Given the description of an element on the screen output the (x, y) to click on. 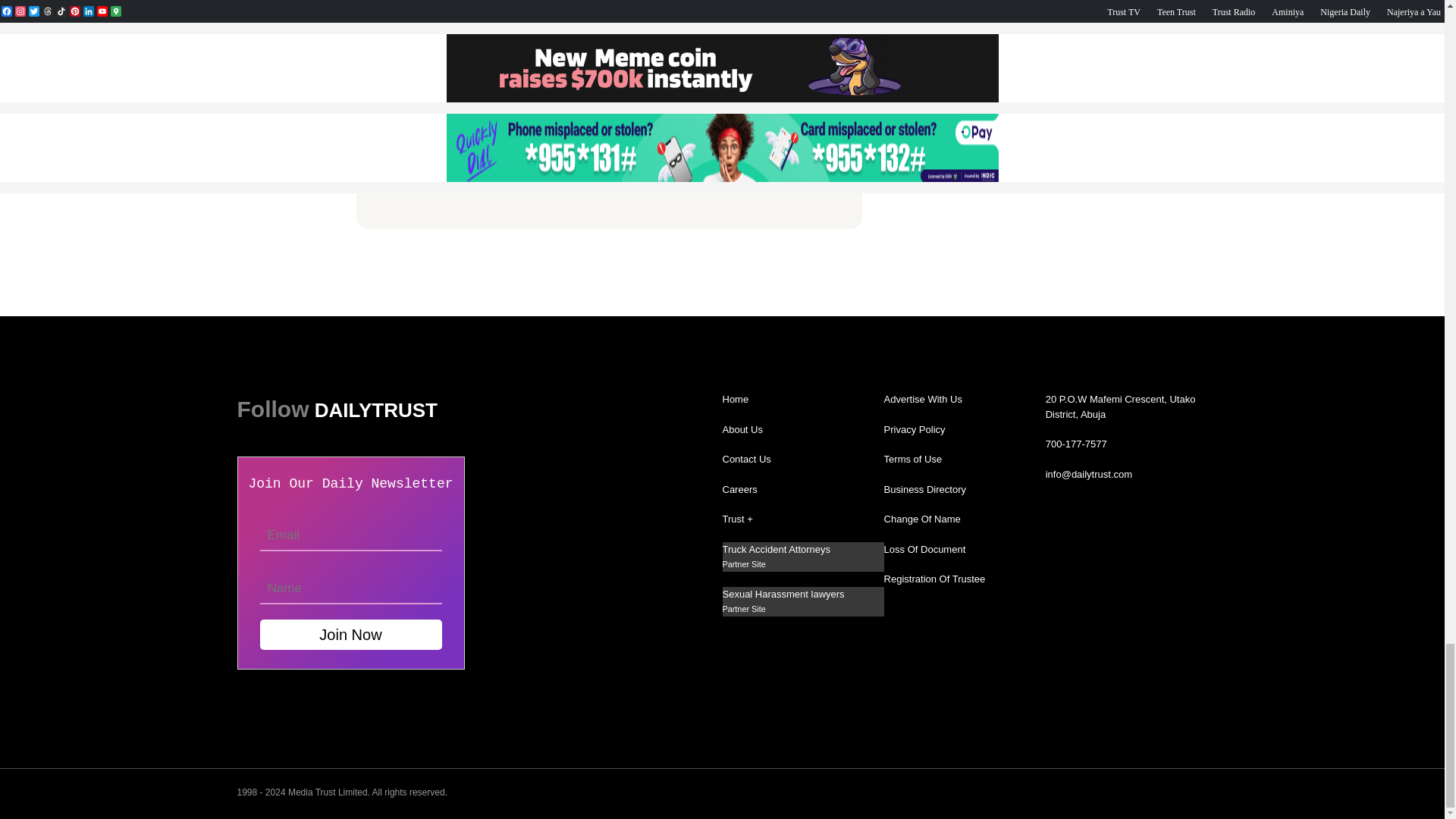
Join Now (350, 634)
